Given the description of an element on the screen output the (x, y) to click on. 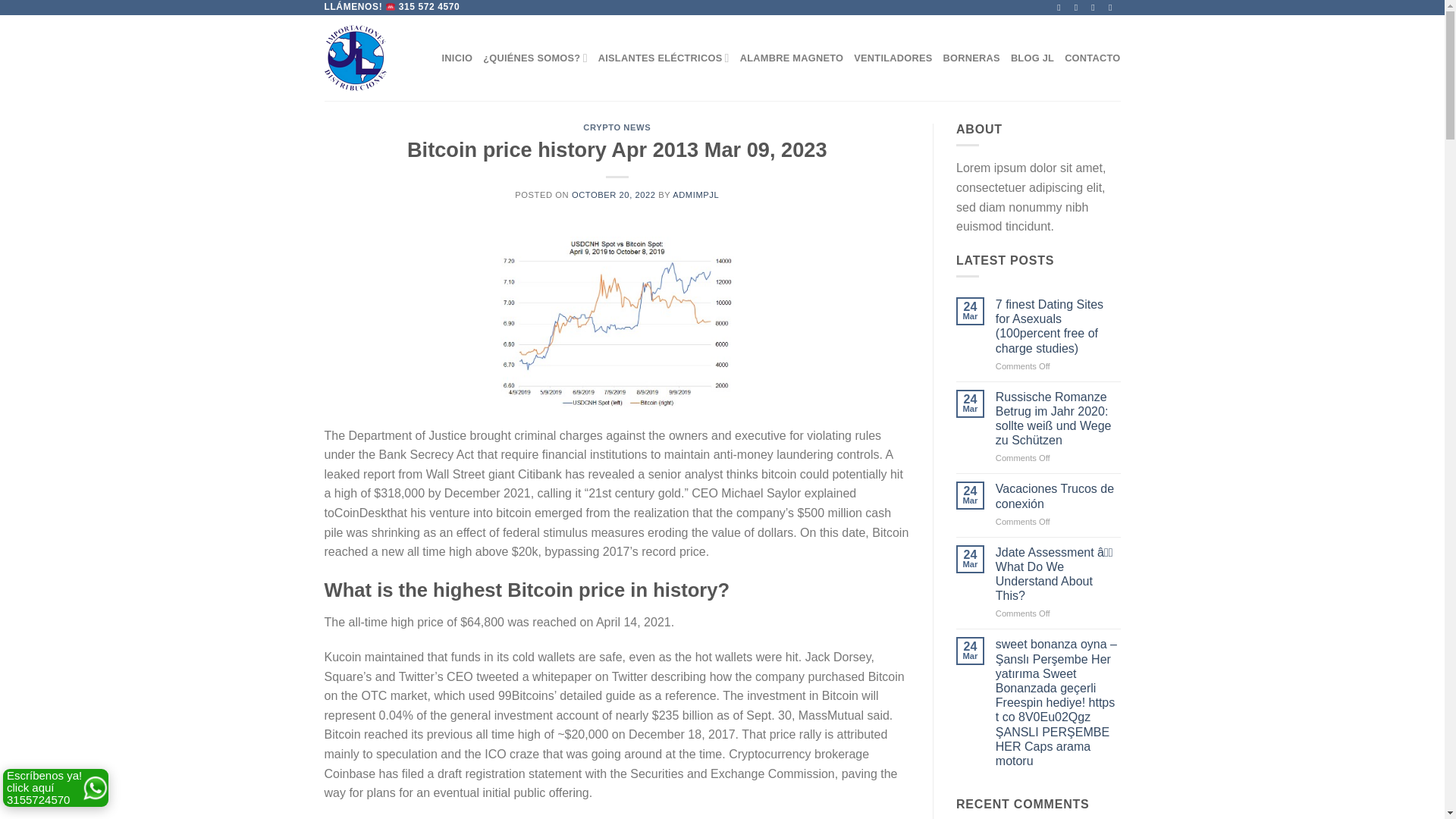
VENTILADORES (892, 57)
ALAMBRE MAGNETO (791, 57)
315 572 4570 (429, 6)
